Given the description of an element on the screen output the (x, y) to click on. 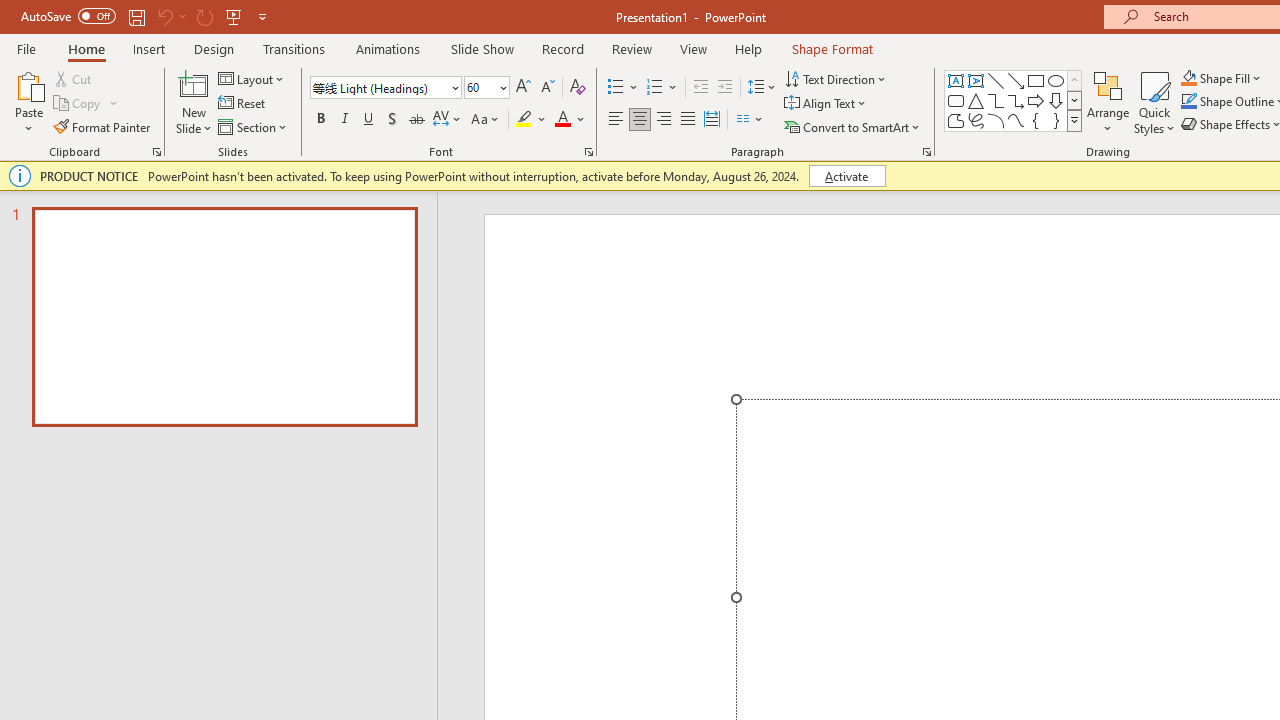
Bold (320, 119)
Office Clipboard... (156, 151)
Line Arrow (1016, 80)
Right Brace (1055, 120)
Quick Access Toolbar (145, 16)
Line Spacing (762, 87)
Animations (388, 48)
Copy (78, 103)
More Options (1232, 78)
Align Right (663, 119)
Strikethrough (416, 119)
Home (86, 48)
Cut (73, 78)
Connector: Elbow (995, 100)
Review (631, 48)
